Given the description of an element on the screen output the (x, y) to click on. 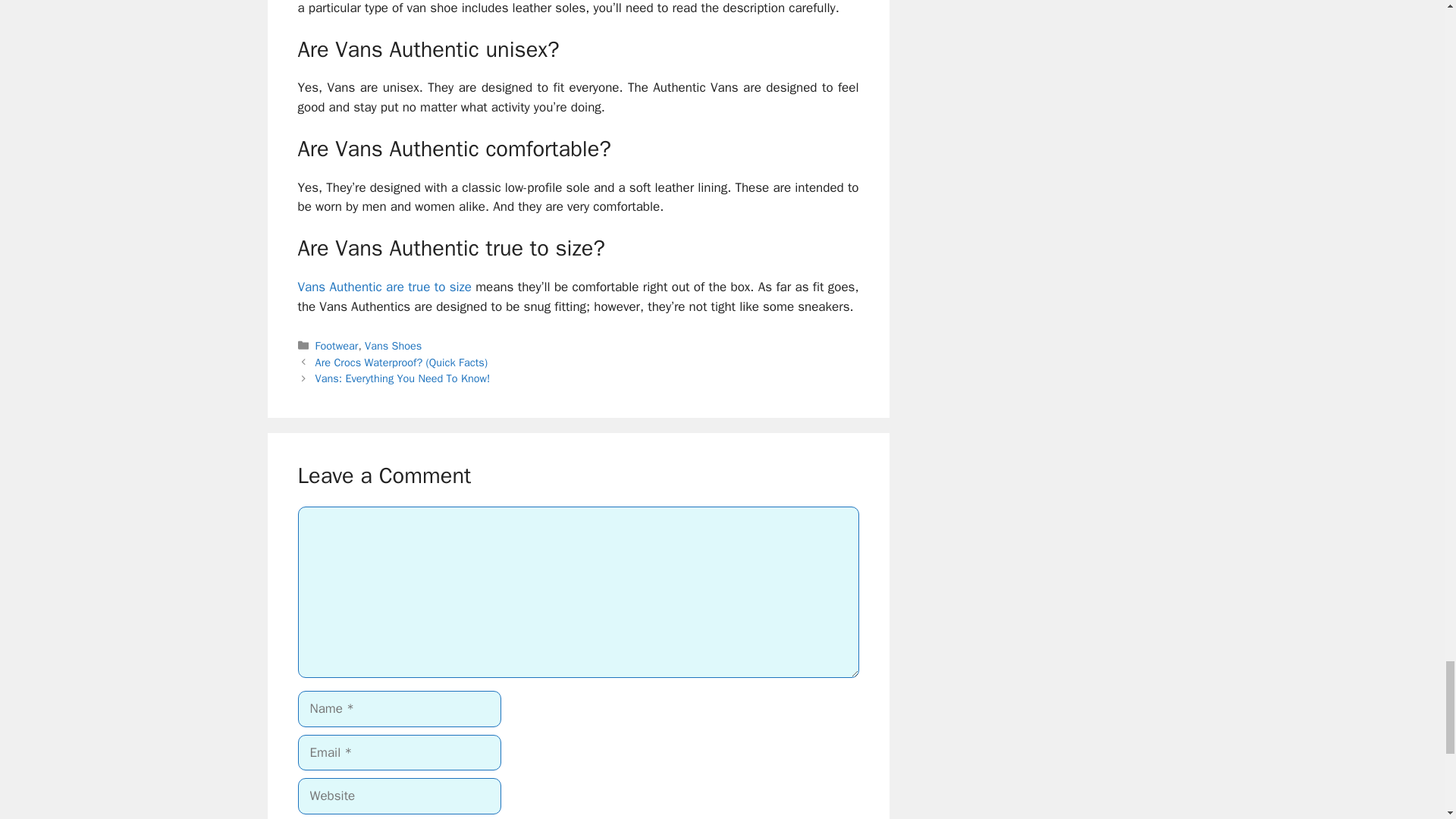
Vans: Everything You Need To Know! (402, 377)
Vans Authentic are true to size (383, 286)
Vans Shoes (393, 345)
Footwear (336, 345)
